Given the description of an element on the screen output the (x, y) to click on. 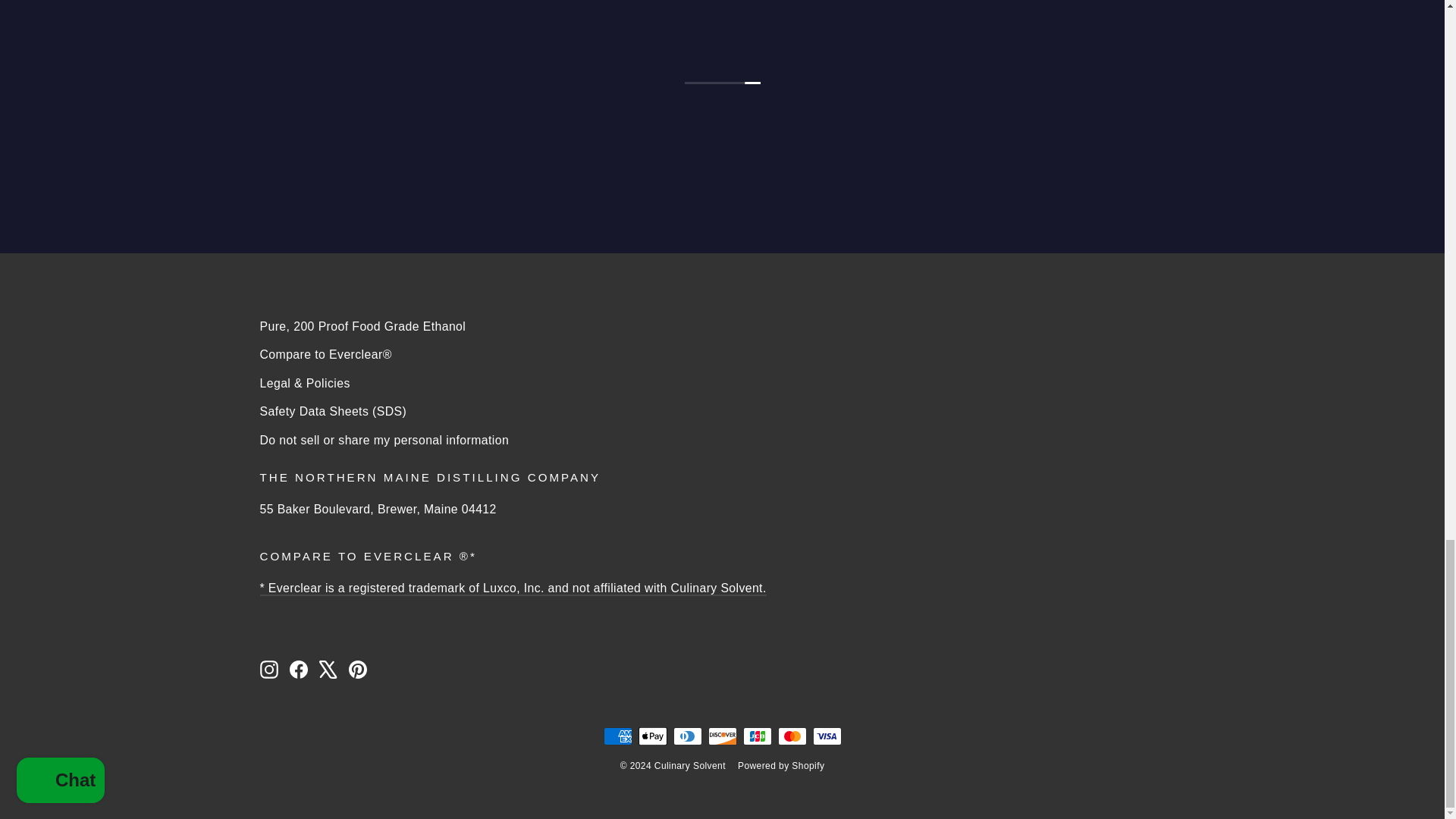
JCB (756, 736)
Culinary Solvent on Pinterest (357, 668)
American Express (617, 736)
Mastercard (791, 736)
Discover (721, 736)
Culinary Solvent on X (327, 668)
Diners Club (686, 736)
instagram (268, 669)
Apple Pay (652, 736)
